Given the description of an element on the screen output the (x, y) to click on. 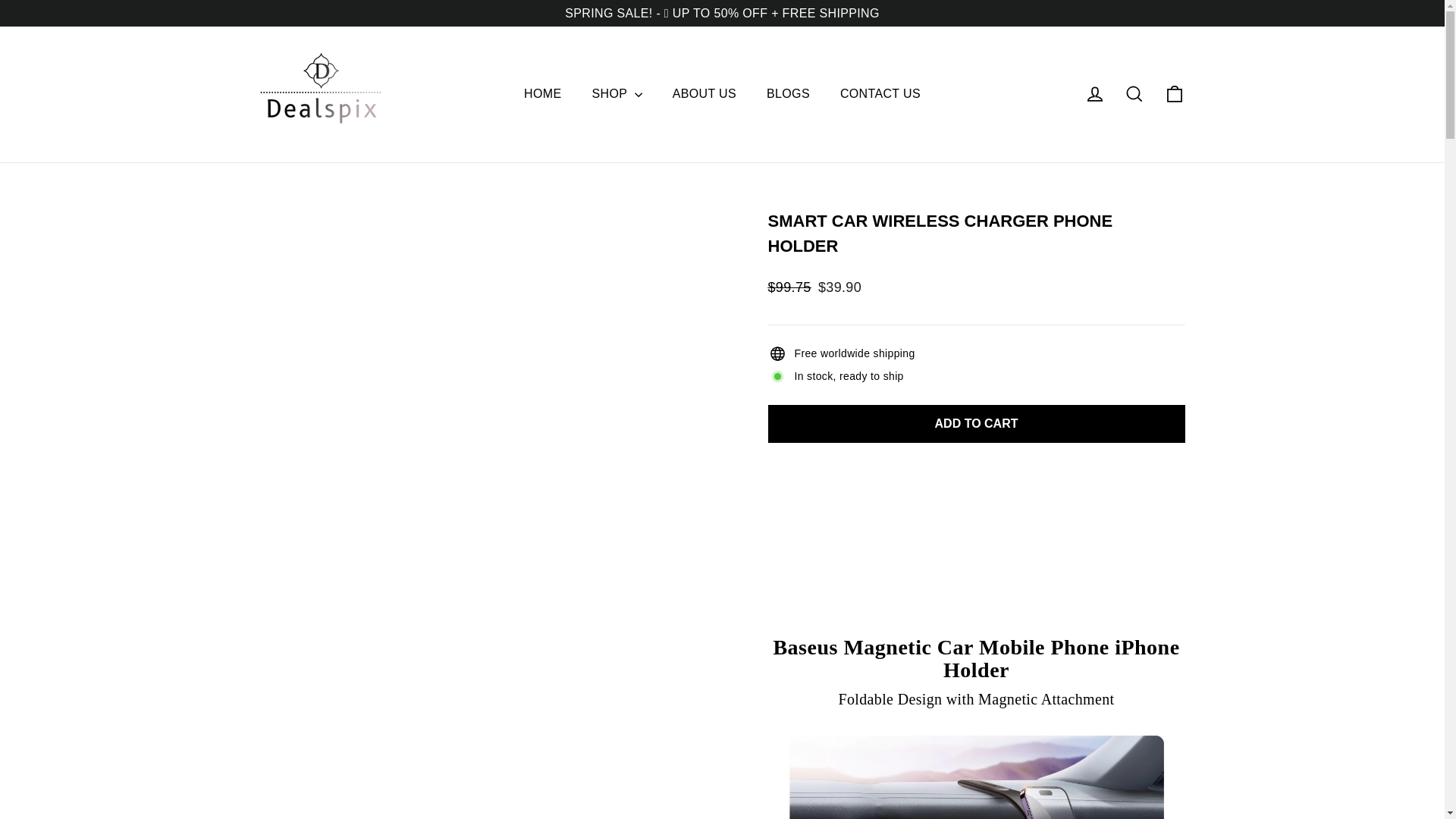
ABOUT US (704, 93)
Cart (1173, 94)
Search (1134, 94)
HOME (542, 93)
SHOP (616, 93)
Log in (1095, 94)
CONTACT US (880, 93)
BLOGS (788, 93)
